Given the description of an element on the screen output the (x, y) to click on. 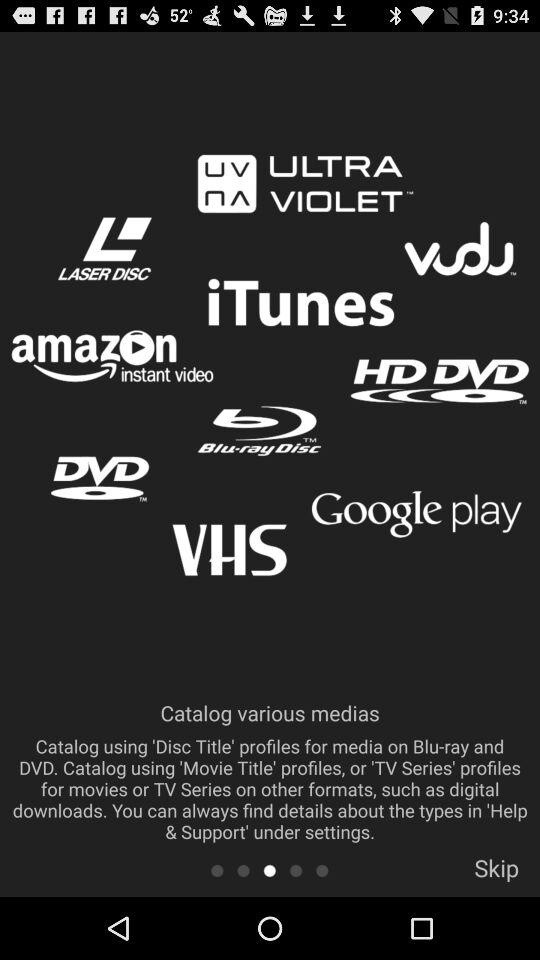
next to (321, 870)
